Given the description of an element on the screen output the (x, y) to click on. 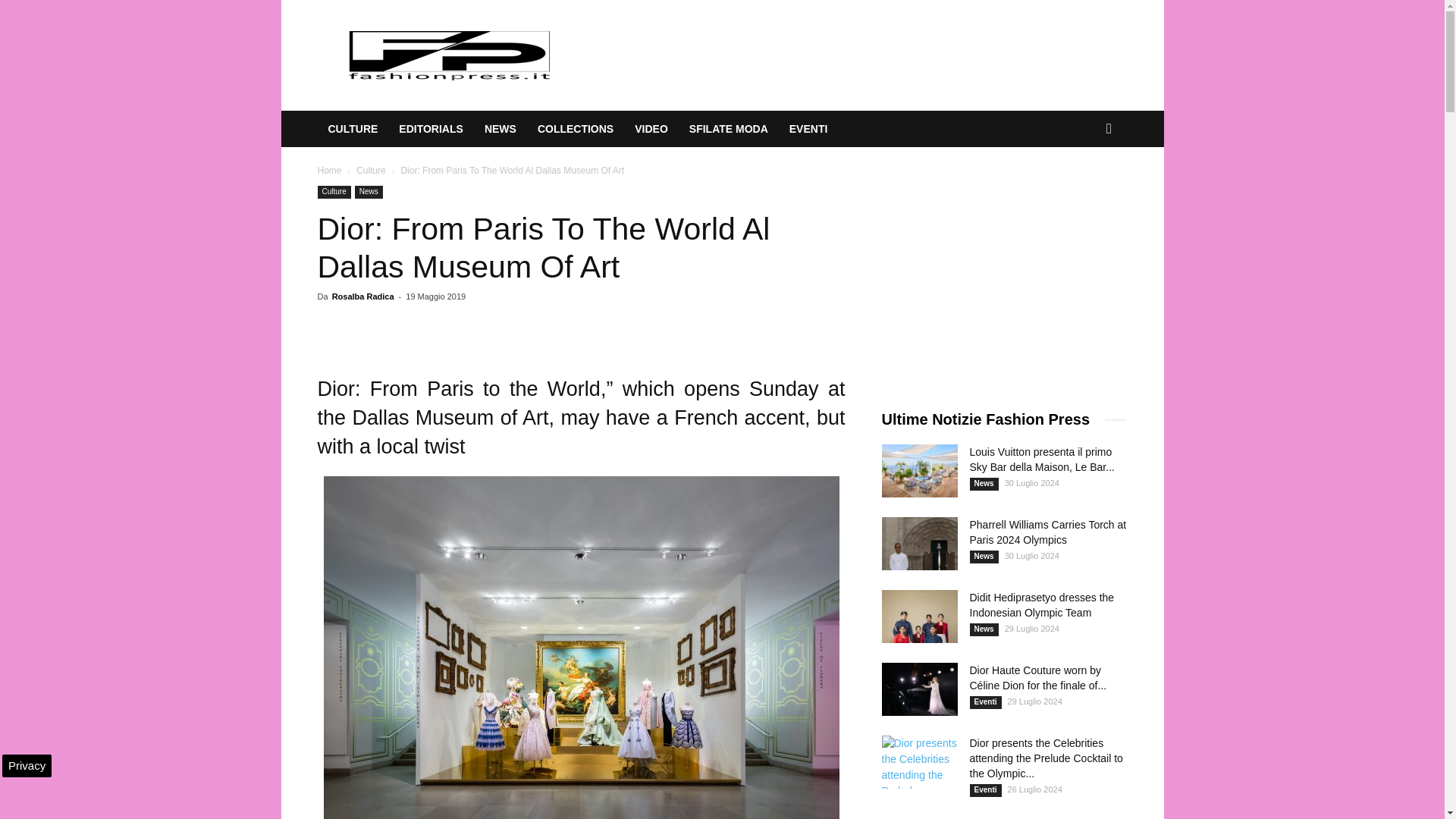
Culture (370, 170)
Rosalba Radica (362, 296)
Culture (333, 192)
Cerca (1086, 189)
News (368, 192)
NEWS (500, 128)
Advertisement (994, 280)
CULTURE (352, 128)
EVENTI (808, 128)
Advertisement (850, 55)
VIDEO (651, 128)
Visualizza tutti i post in Culture (370, 170)
SFILATE MODA (728, 128)
EDITORIALS (431, 128)
